Given the description of an element on the screen output the (x, y) to click on. 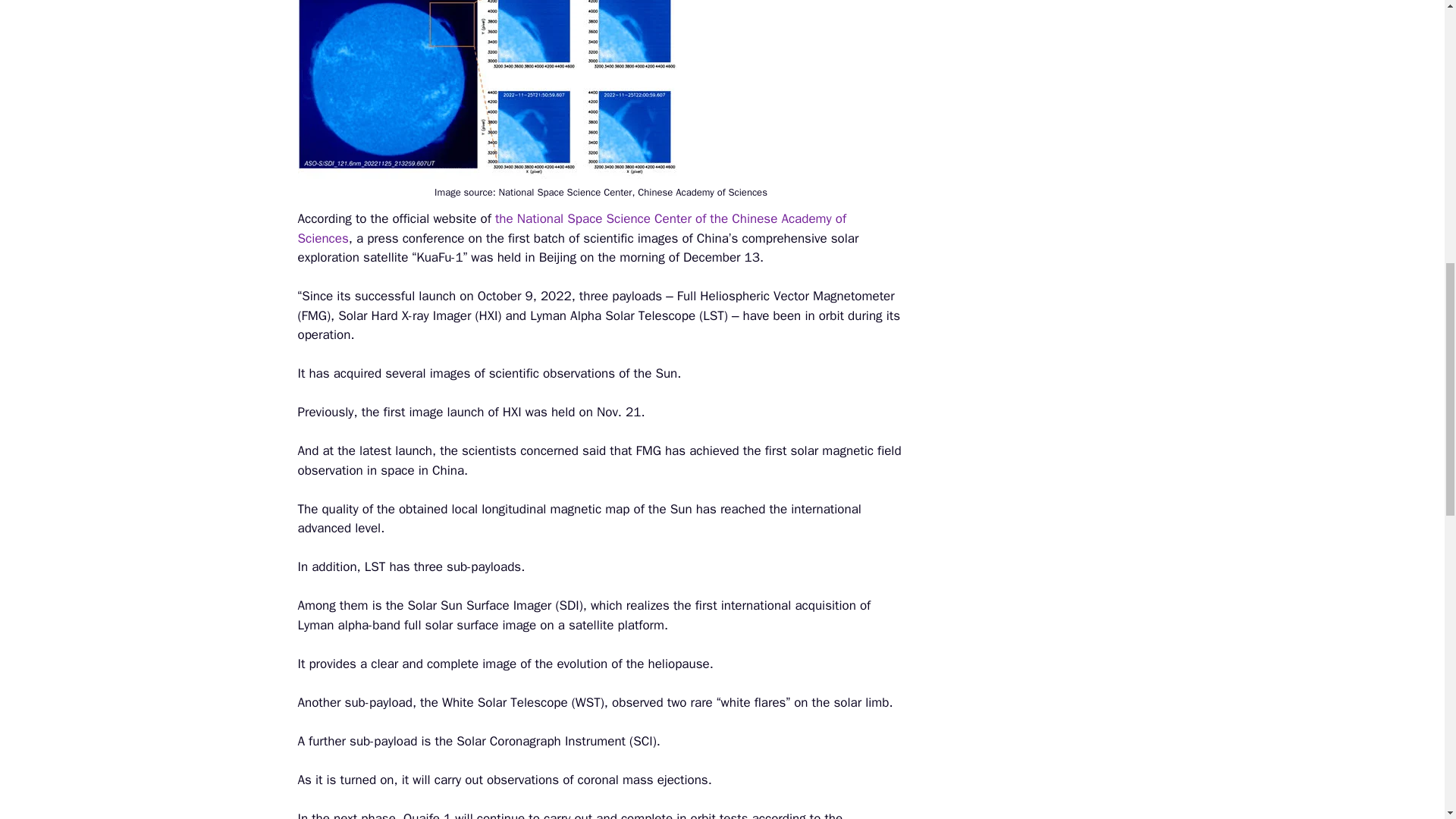
Scroll back to top (1406, 720)
get 2 2 6 "Quaife I" (487, 89)
